Given the description of an element on the screen output the (x, y) to click on. 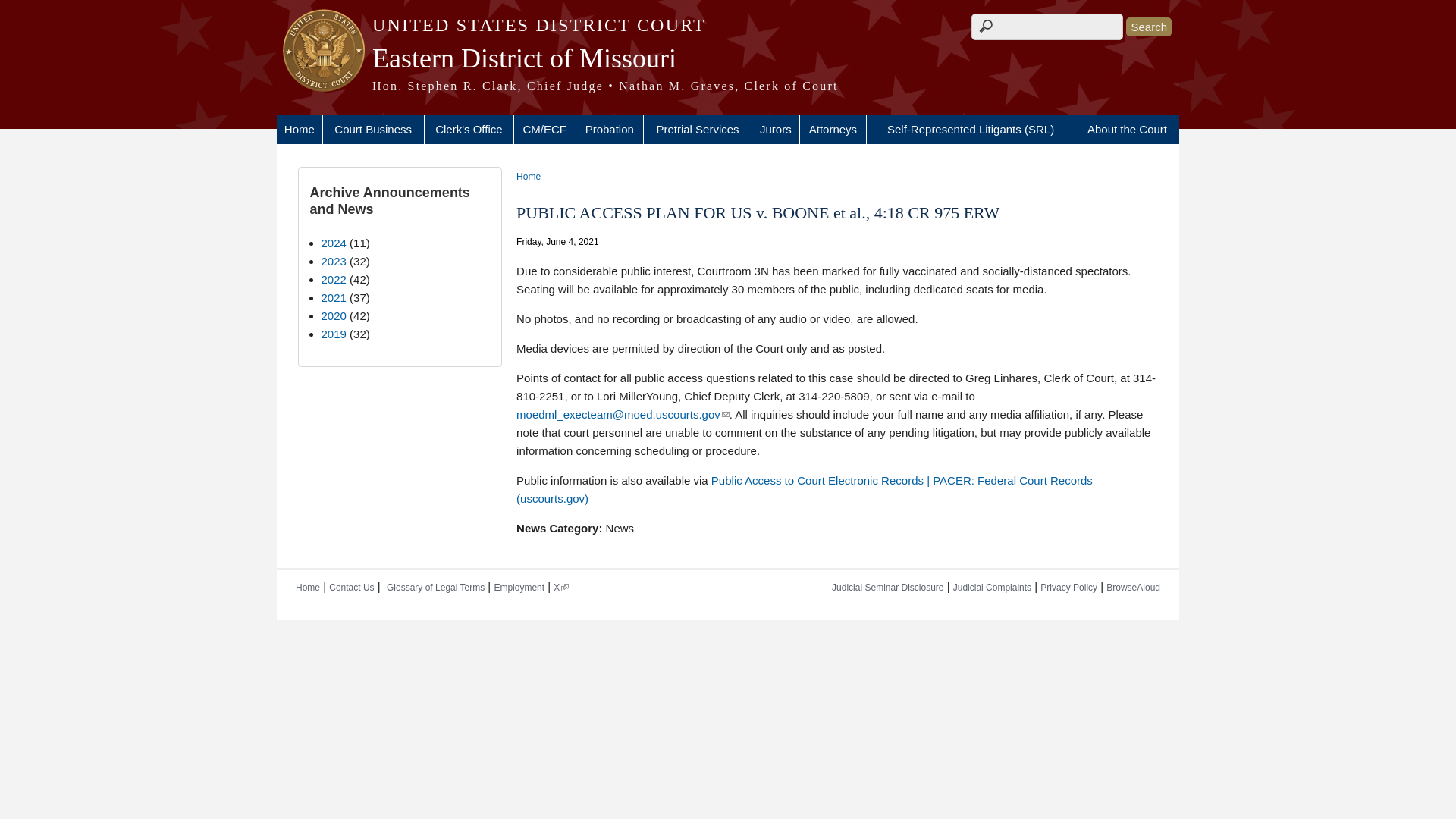
Home (298, 129)
Home (727, 57)
UNITED STATES DISTRICT COURT (727, 25)
Court Business (373, 129)
Search (1148, 26)
Search (1148, 26)
Eastern District of Missouri (727, 57)
Clerk's Office (469, 129)
Home (727, 25)
Probation (609, 129)
Enter the terms you wish to search for. (1046, 26)
Home (727, 86)
